Given the description of an element on the screen output the (x, y) to click on. 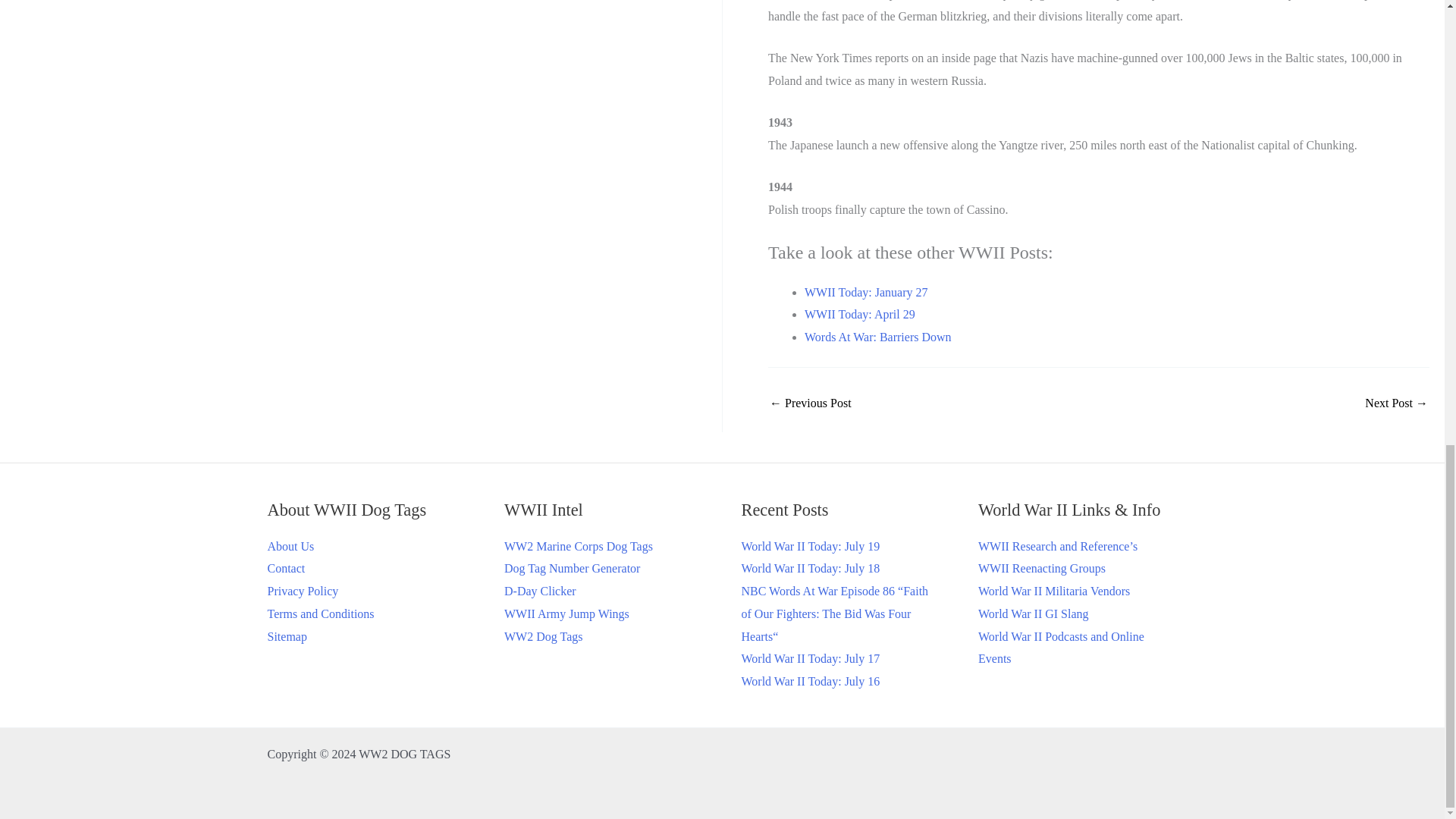
World War II Today: May 17 (810, 403)
WWII Reenacting Groups, Units and Organizations (1041, 567)
Lina Romay YANK Magazine Pin Up Girl - May 18, 1945 (1396, 403)
